Given the description of an element on the screen output the (x, y) to click on. 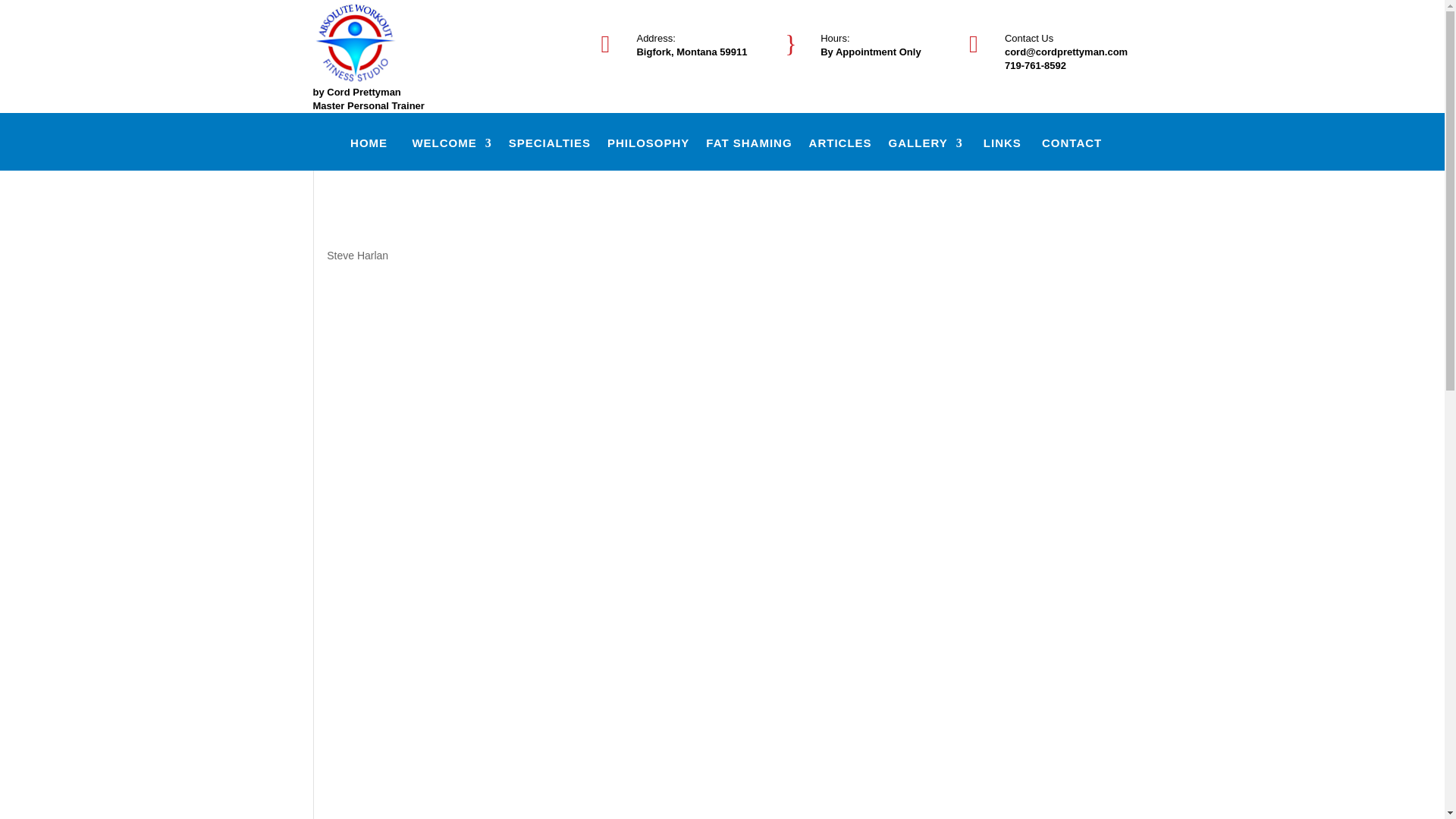
SPECIALTIES (549, 154)
  HOME   (369, 154)
Steve Harlan (357, 255)
PHILOSOPHY (647, 154)
Posts by Steve Harlan (357, 255)
ARTICLES (840, 154)
 LINKS  (1002, 154)
719-761-8592 (1034, 65)
FAT SHAMING (749, 154)
WELCOME (452, 154)
CONTACT (1072, 154)
GALLERY (925, 154)
